Given the description of an element on the screen output the (x, y) to click on. 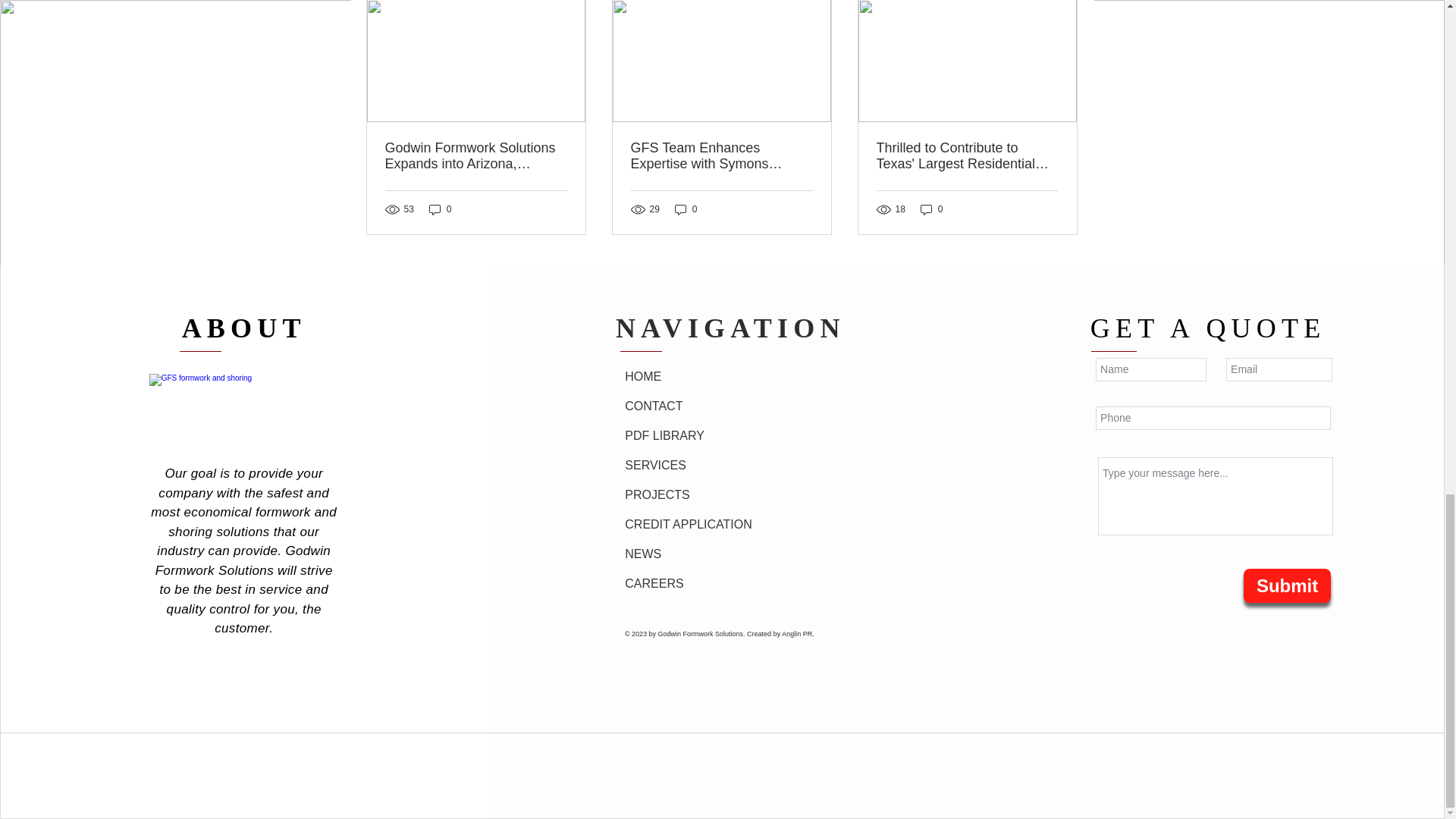
0 (685, 209)
0 (440, 209)
best colors.png (247, 403)
